Given the description of an element on the screen output the (x, y) to click on. 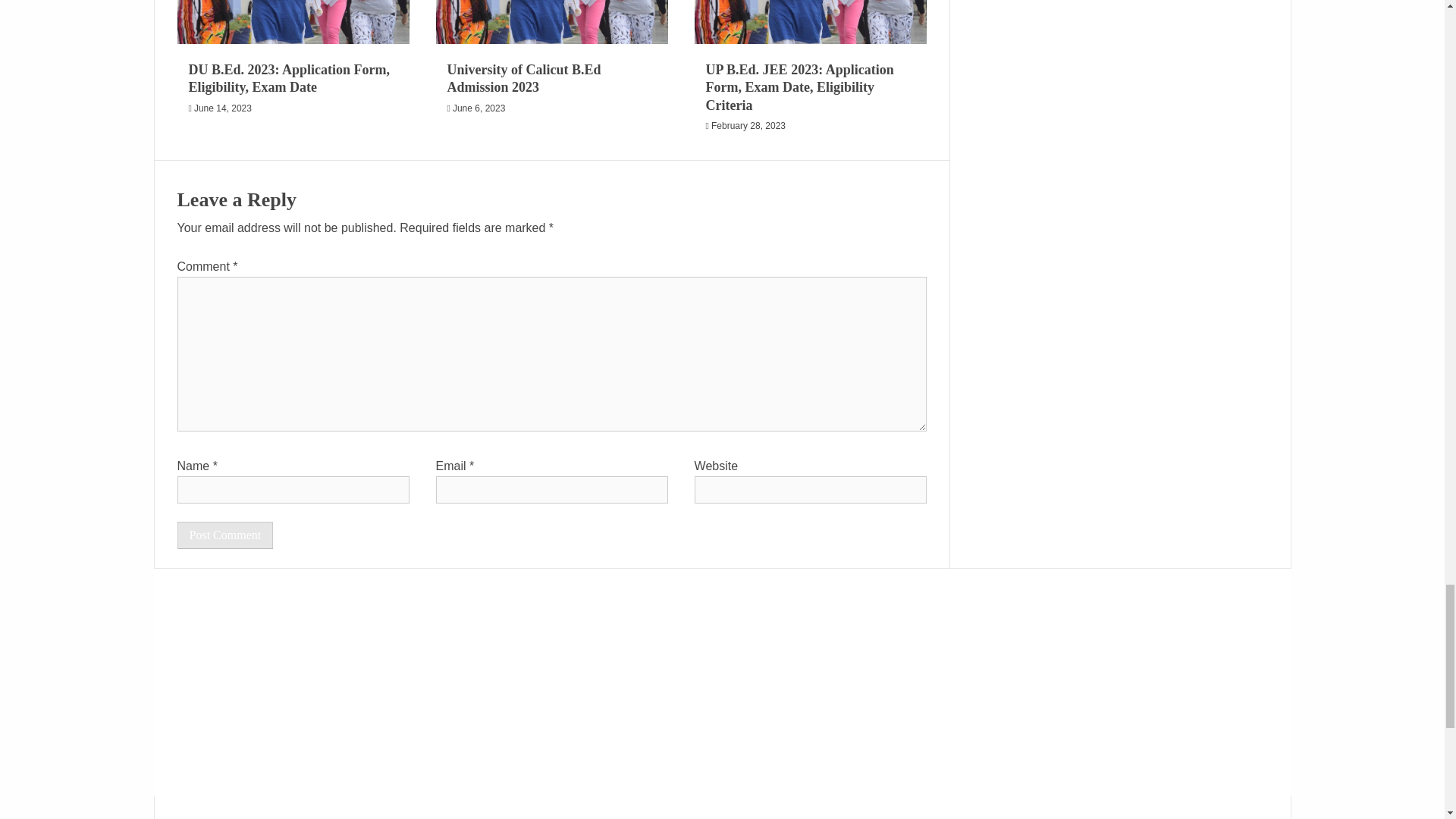
Post Comment (225, 534)
